Given the description of an element on the screen output the (x, y) to click on. 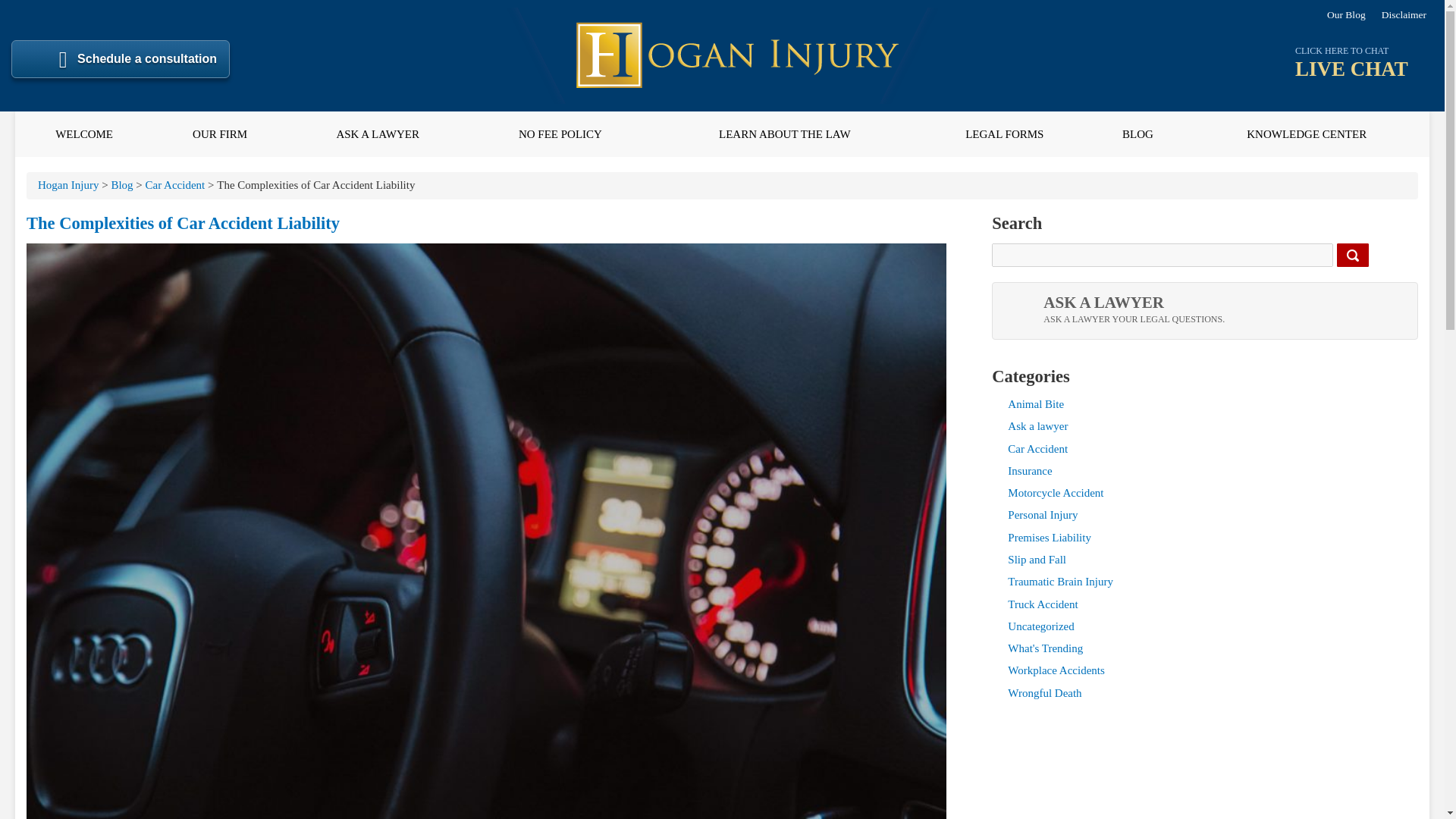
Schedule a consultation (120, 58)
Animal Bite (1035, 404)
Car Accident (1037, 449)
Insurance (1361, 57)
Truck Accident (1029, 470)
BLOG (1042, 604)
LEARN ABOUT THE LAW (1136, 134)
Ask a lawyer (783, 134)
Go to Blog. (1037, 426)
The Complexities of Car Accident Liability (121, 184)
ASK A LAWYER (1055, 492)
Go to the Car Accident category archives. (377, 134)
Slip and Fall (175, 184)
